Given the description of an element on the screen output the (x, y) to click on. 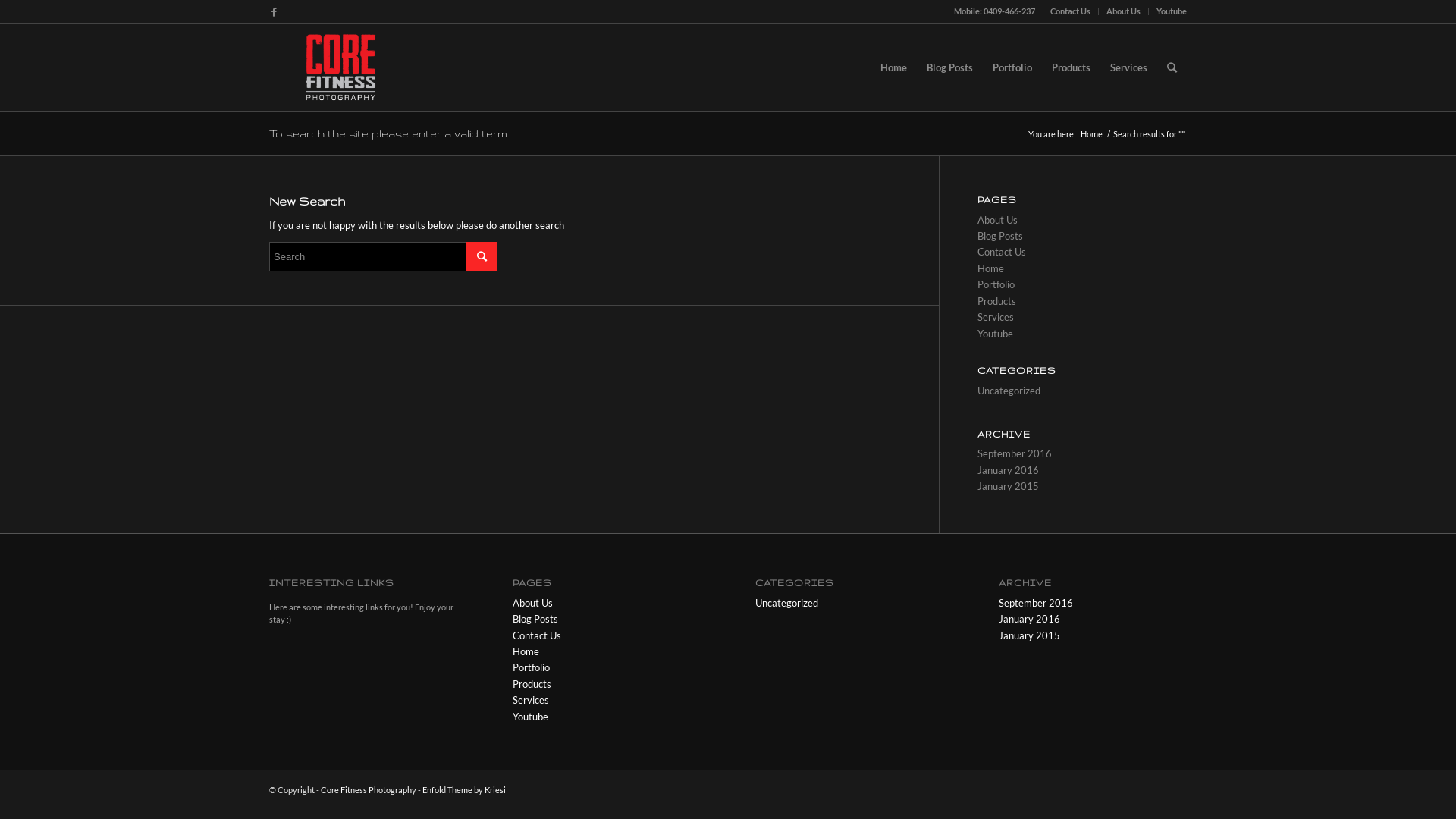
Contact Us Element type: text (1001, 251)
Youtube Element type: text (530, 716)
Services Element type: text (995, 316)
Youtube Element type: text (995, 333)
Contact Us Element type: text (1070, 10)
Services Element type: text (530, 699)
January 2016 Element type: text (1029, 618)
Blog Posts Element type: text (999, 235)
Youtube Element type: text (1171, 10)
Facebook Element type: hover (273, 11)
January 2015 Element type: text (1007, 486)
Portfolio Element type: text (1011, 67)
About Us Element type: text (532, 602)
September 2016 Element type: text (1035, 602)
Products Element type: text (531, 683)
January 2016 Element type: text (1007, 470)
Services Element type: text (1128, 67)
January 2015 Element type: text (1029, 635)
Enfold Theme by Kriesi Element type: text (463, 789)
Contact Us Element type: text (536, 635)
Home Element type: text (525, 651)
Uncategorized Element type: text (1008, 390)
Portfolio Element type: text (995, 284)
Uncategorized Element type: text (786, 602)
Products Element type: text (996, 300)
About Us Element type: text (1123, 10)
Home Element type: text (893, 67)
About Us Element type: text (997, 219)
Blog Posts Element type: text (535, 618)
Products Element type: text (1070, 67)
Home Element type: text (990, 268)
Home Element type: text (1091, 133)
Blog Posts Element type: text (949, 67)
Core Fitness Photography Element type: text (368, 789)
Portfolio Element type: text (530, 667)
September 2016 Element type: text (1014, 453)
